Given the description of an element on the screen output the (x, y) to click on. 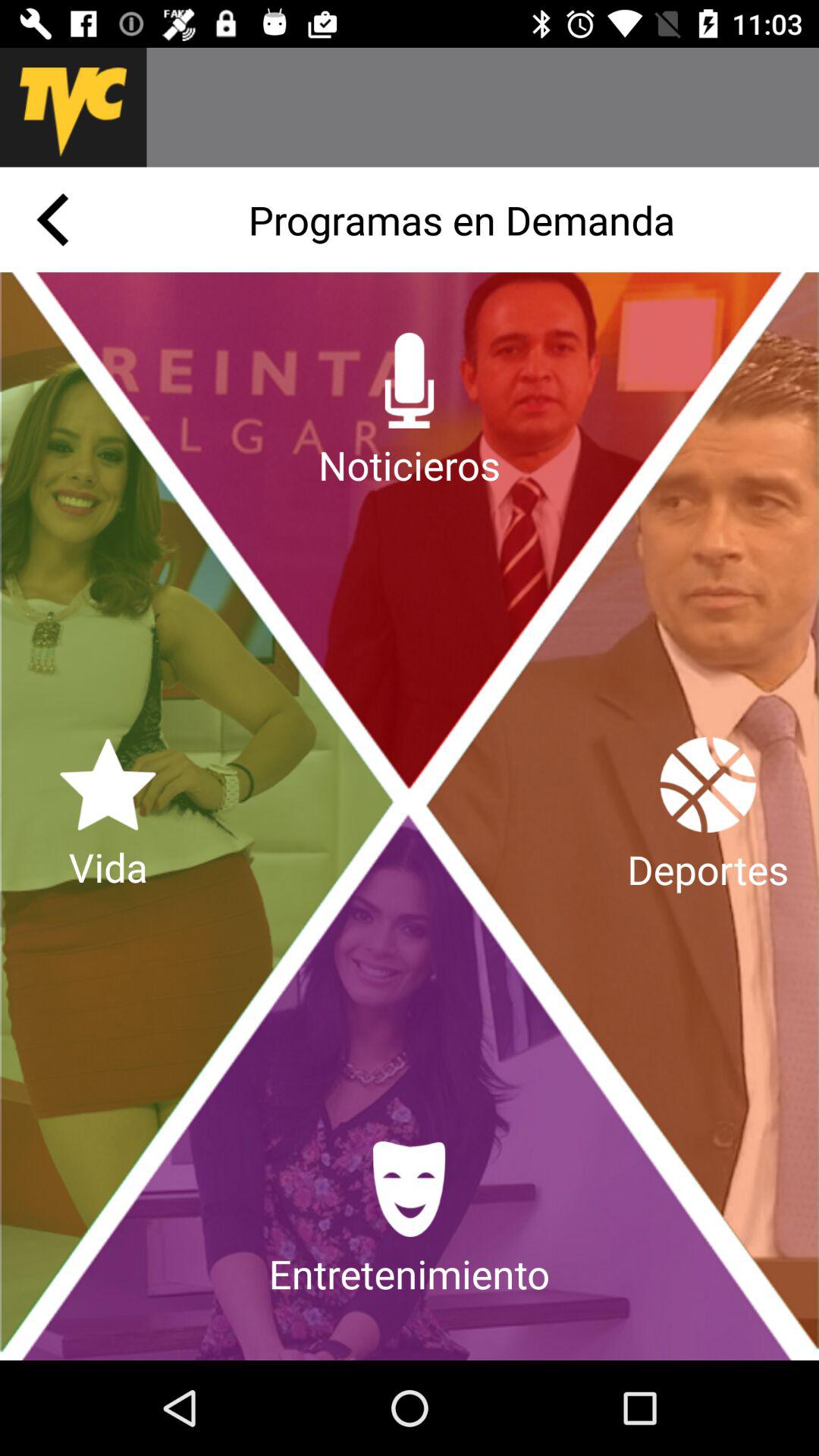
turn on app below programas en demanda app (708, 815)
